Given the description of an element on the screen output the (x, y) to click on. 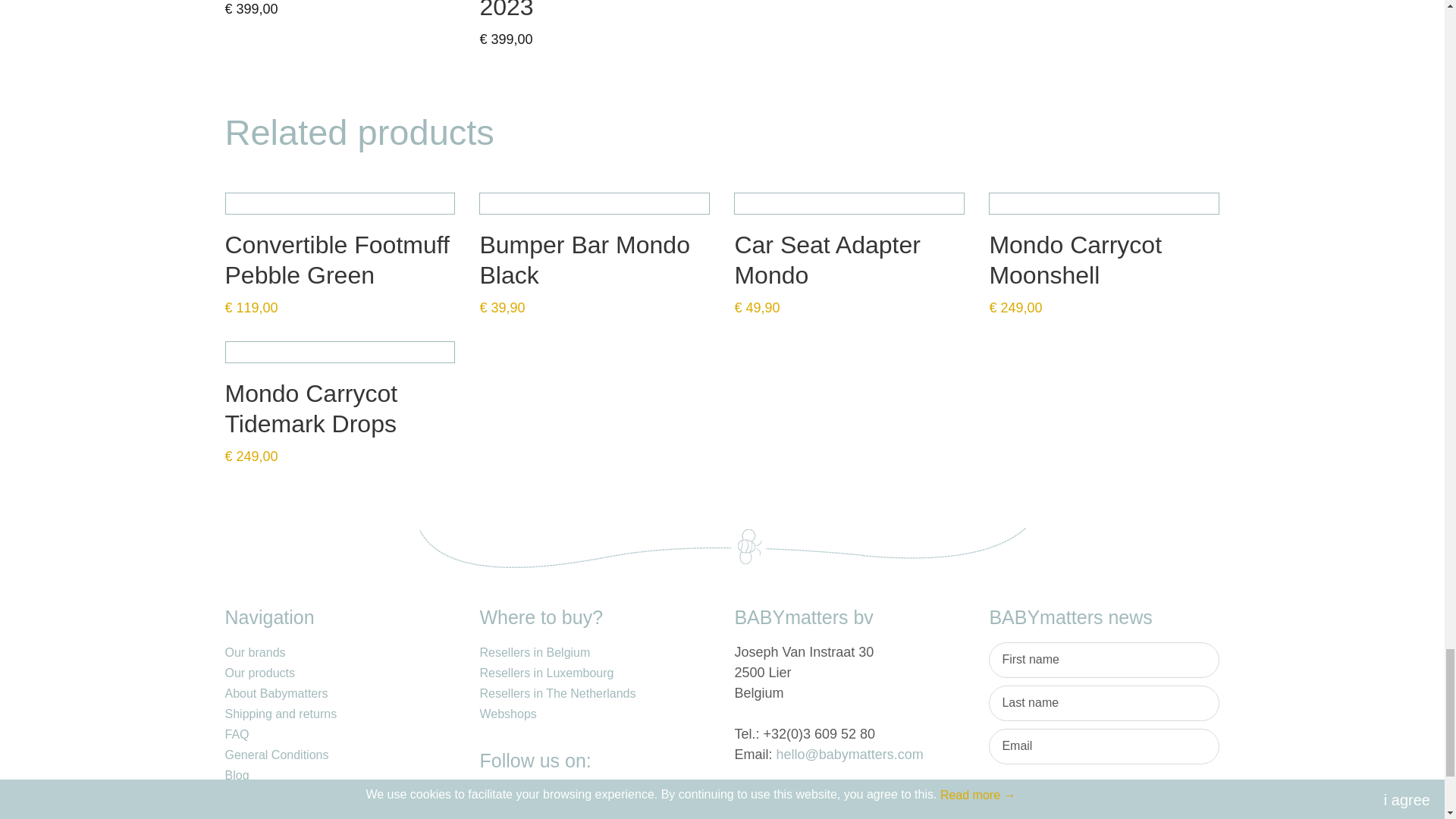
Car Seat Adapter Mondo (848, 203)
Bumper Bar Mondo Black (594, 203)
Mondo Carrycot Tidemark Drops (339, 352)
Convertible Footmuff  Pebble Green (339, 203)
Mondo Carrycot Moonshell  (1104, 203)
